Given the description of an element on the screen output the (x, y) to click on. 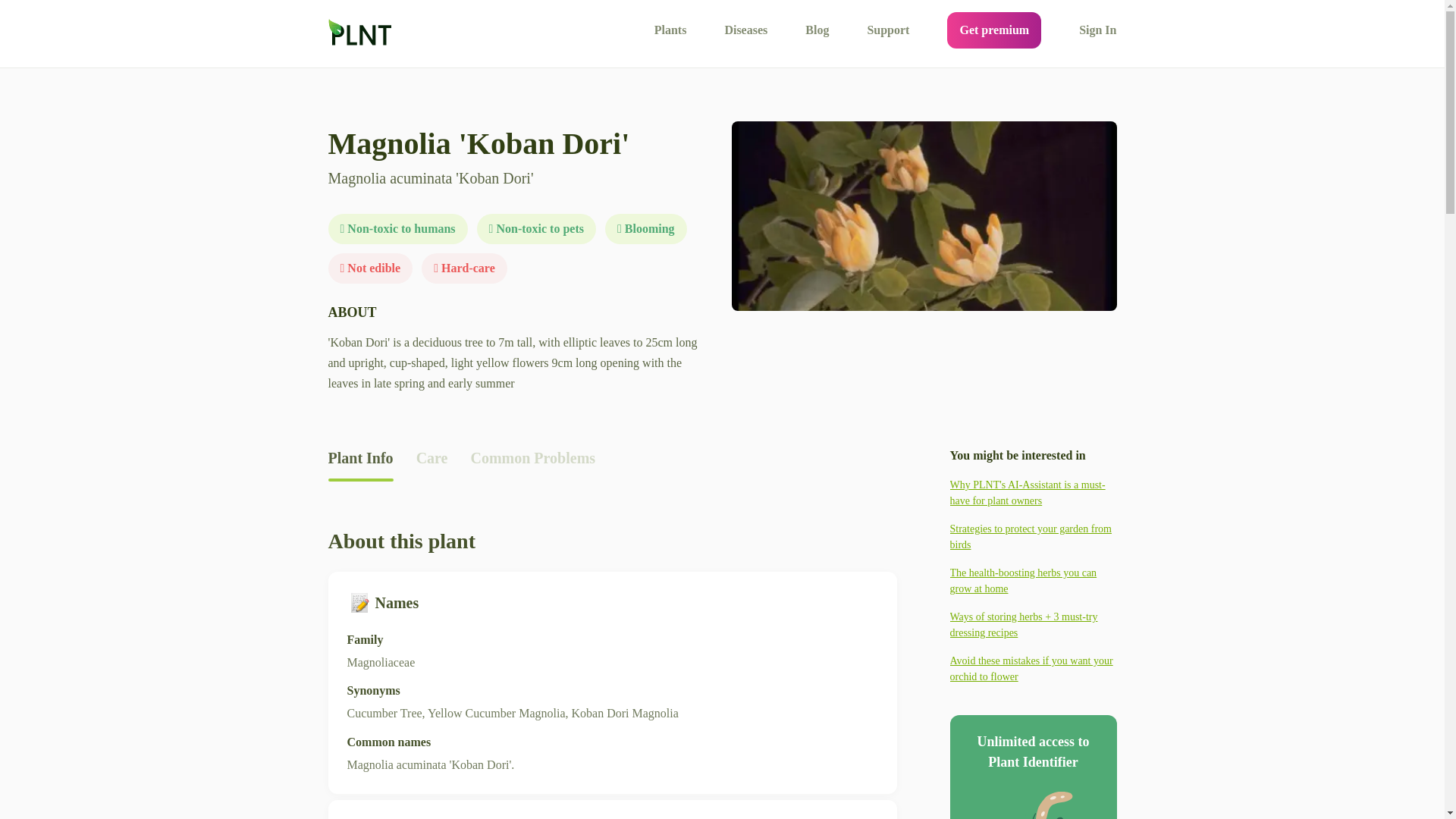
Sign In (1097, 30)
The health-boosting herbs you can grow at home (1032, 581)
Support (887, 30)
Strategies to protect your garden from birds (1032, 536)
Avoid these mistakes if you want your orchid to flower (1032, 668)
Why PLNT's AI-Assistant is a must-have for plant owners (1032, 492)
Plants (670, 30)
Diseases (745, 30)
Blog (816, 30)
Get premium (994, 30)
